Given the description of an element on the screen output the (x, y) to click on. 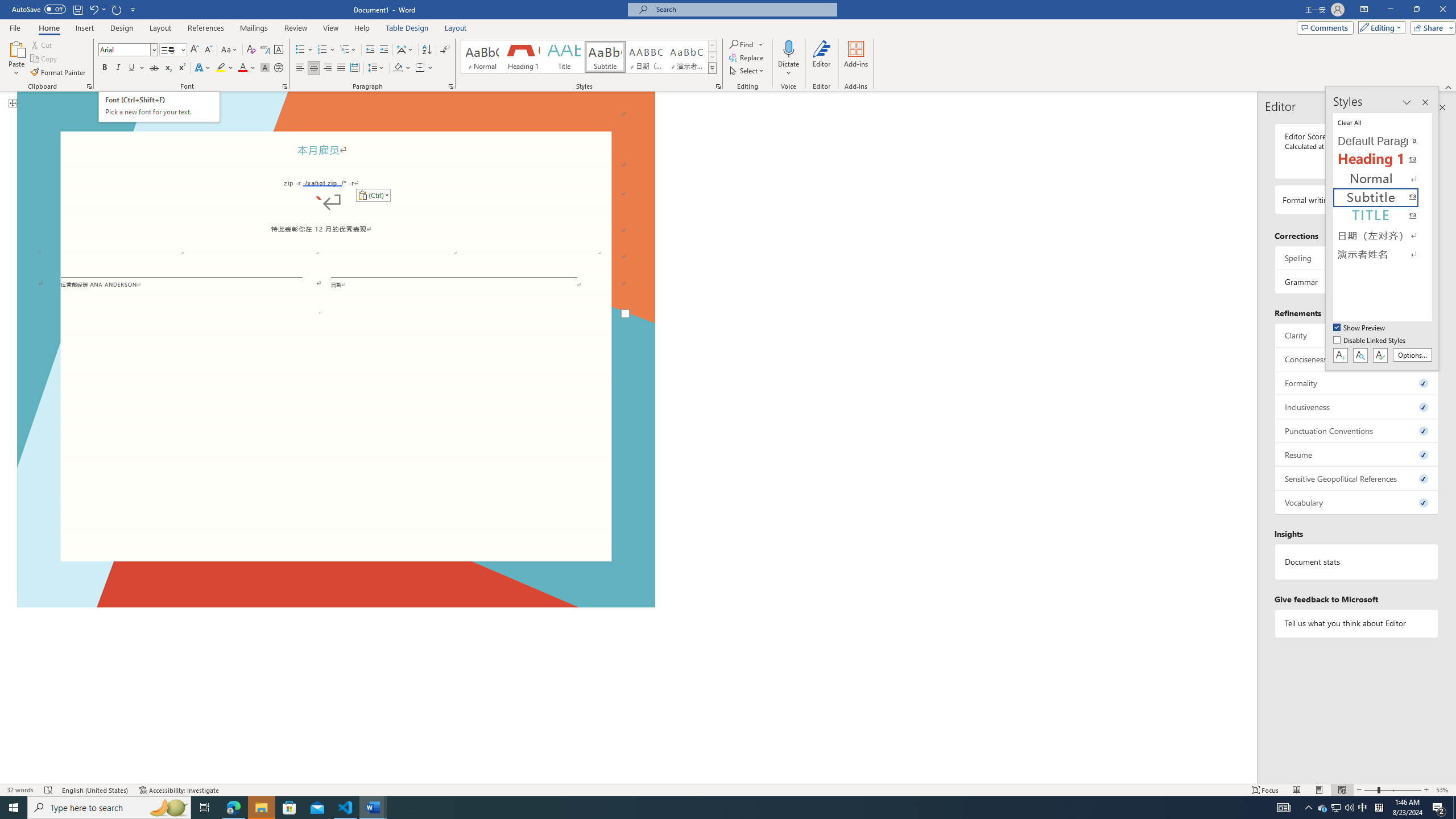
Spelling, 0 issues. Press space or enter to review items. (1356, 257)
Word Count 32 words (19, 790)
